Given the description of an element on the screen output the (x, y) to click on. 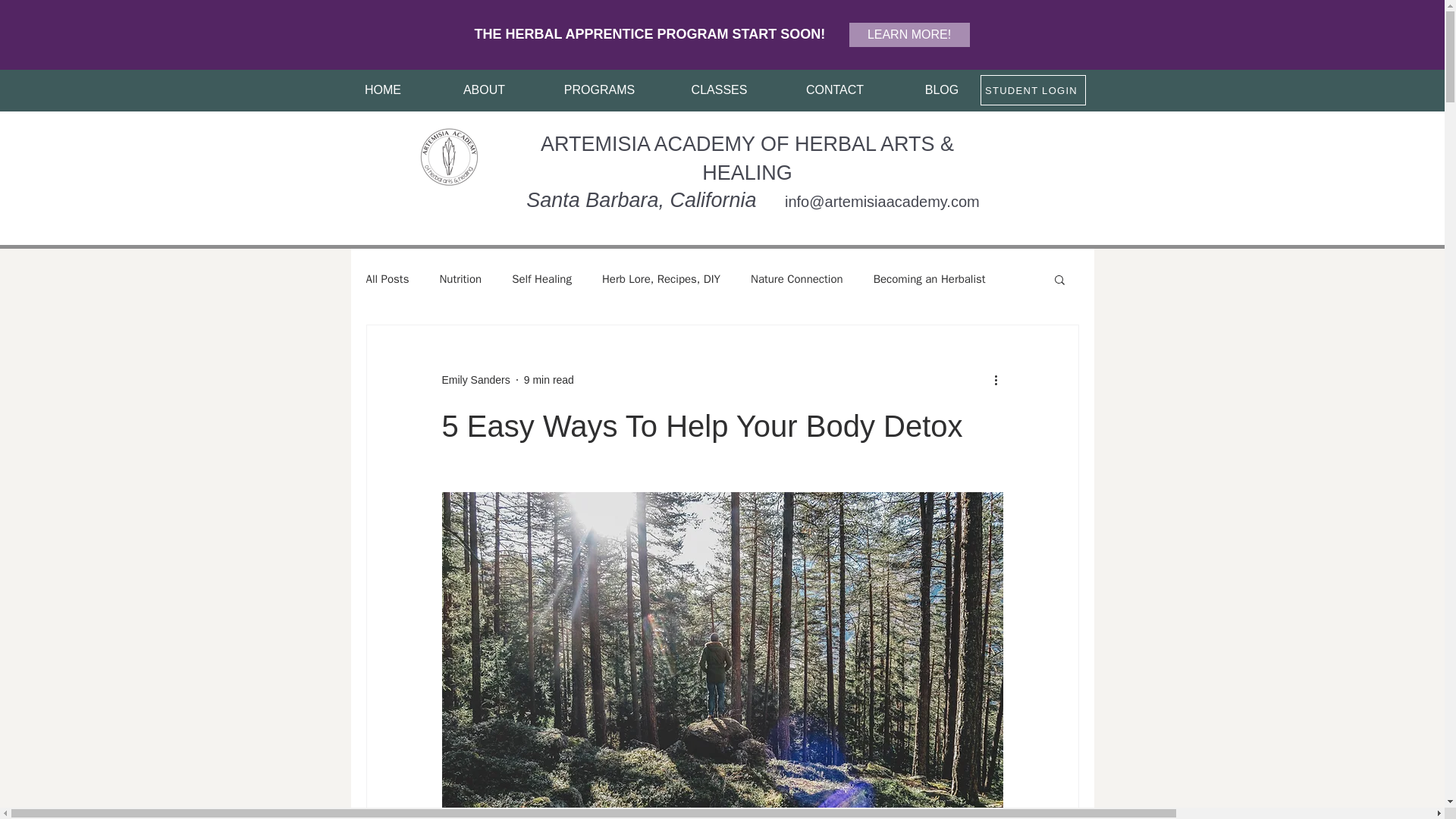
Nature Connection (797, 278)
9 min read (548, 379)
Emily Sanders (475, 380)
STUDENT LOGIN (1031, 90)
Emily Sanders (475, 380)
Herb Lore, Recipes, DIY (661, 278)
PROGRAMS (598, 90)
BLOG (942, 90)
HOME (382, 90)
Becoming an Herbalist (929, 278)
Nutrition (460, 278)
LEARN MORE! (908, 34)
All Posts (387, 278)
Self Healing (542, 278)
CONTACT (833, 90)
